Given the description of an element on the screen output the (x, y) to click on. 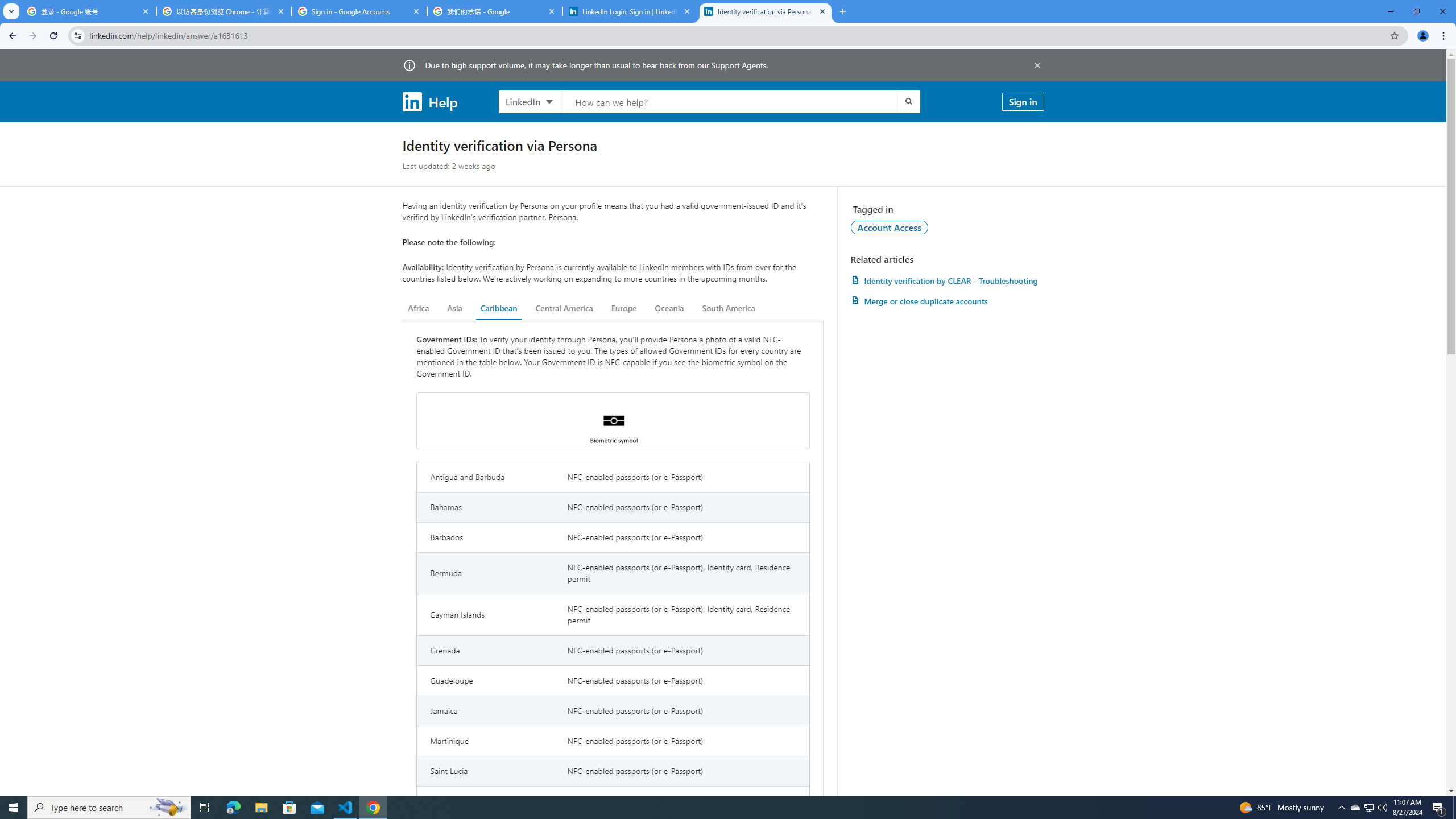
AutomationID: article-link-a1337200 (946, 300)
LinkedIn products to search, LinkedIn selected (530, 101)
Biometric symbol (612, 420)
AutomationID: topic-link-a151002 (889, 227)
Identity verification via Persona | LinkedIn Help (765, 11)
Sign in - Google Accounts (359, 11)
South America (728, 308)
